Given the description of an element on the screen output the (x, y) to click on. 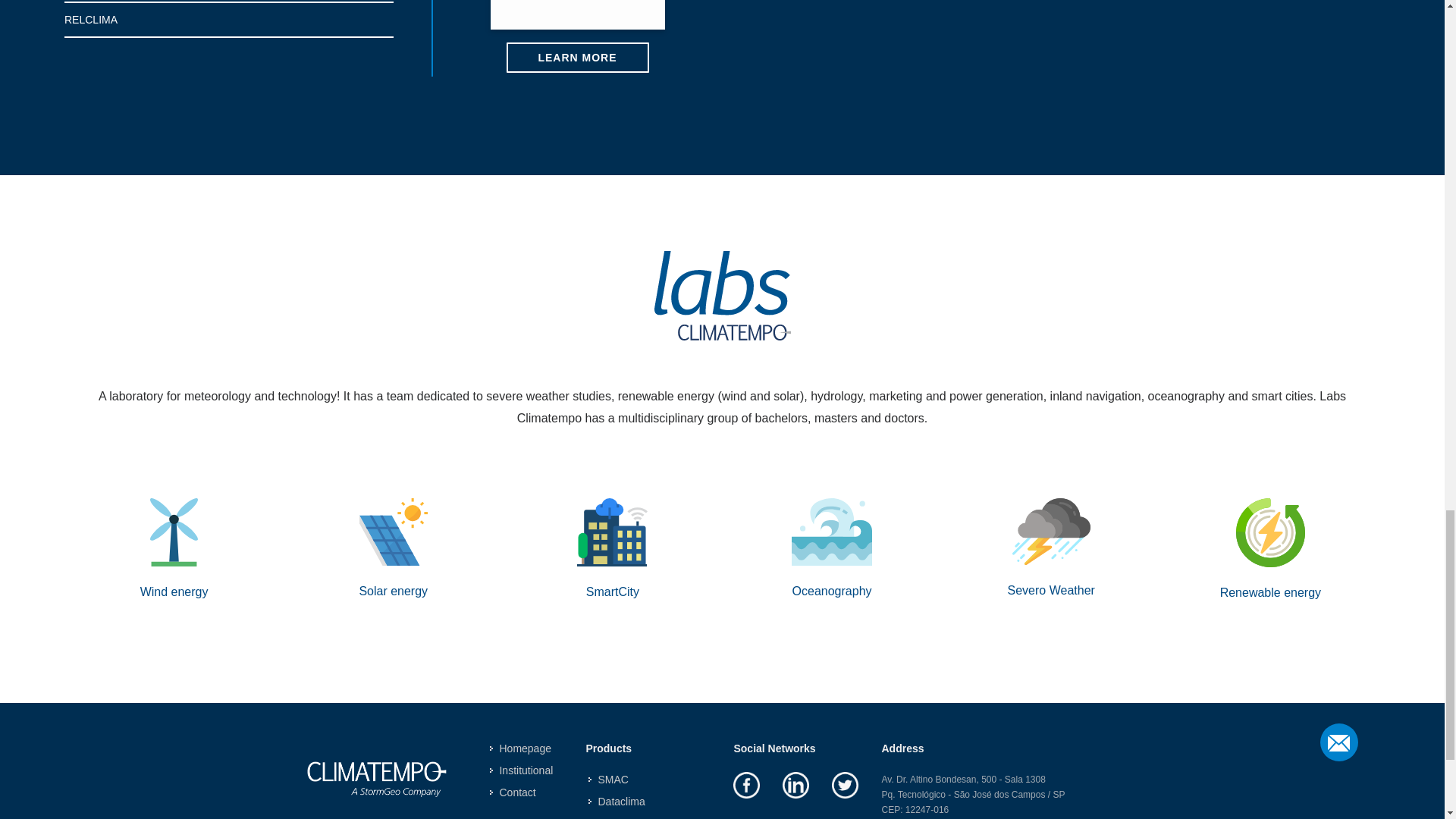
LEARN MORE (577, 57)
Relclima (614, 817)
Institutional (521, 770)
SMAC (609, 779)
RELCLIMA (228, 20)
Homepage (521, 748)
Dataclima (617, 801)
Contact (513, 792)
